Given the description of an element on the screen output the (x, y) to click on. 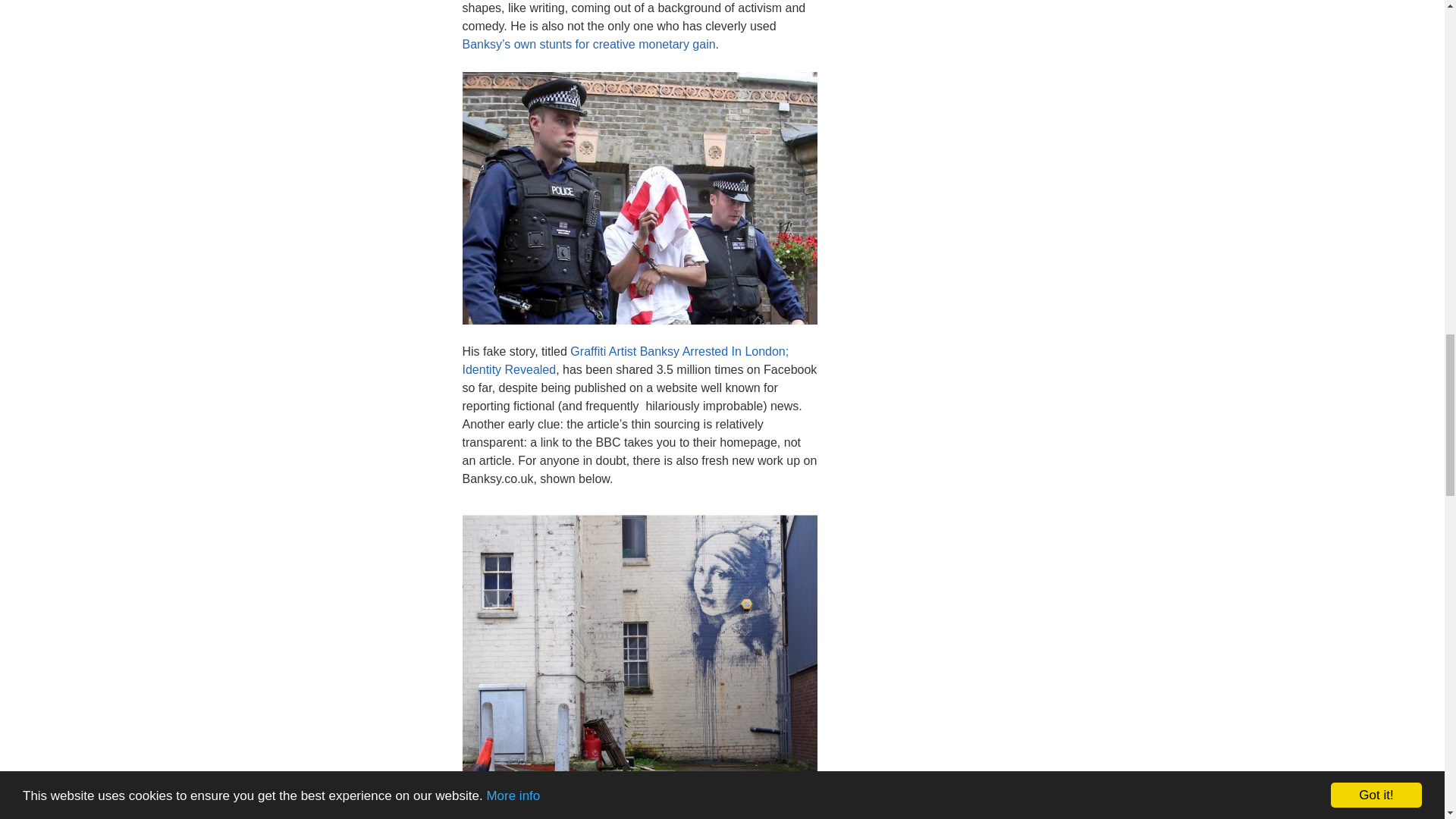
Graffiti Artist Banksy Arrested In London; Identity Revealed (626, 359)
